Given the description of an element on the screen output the (x, y) to click on. 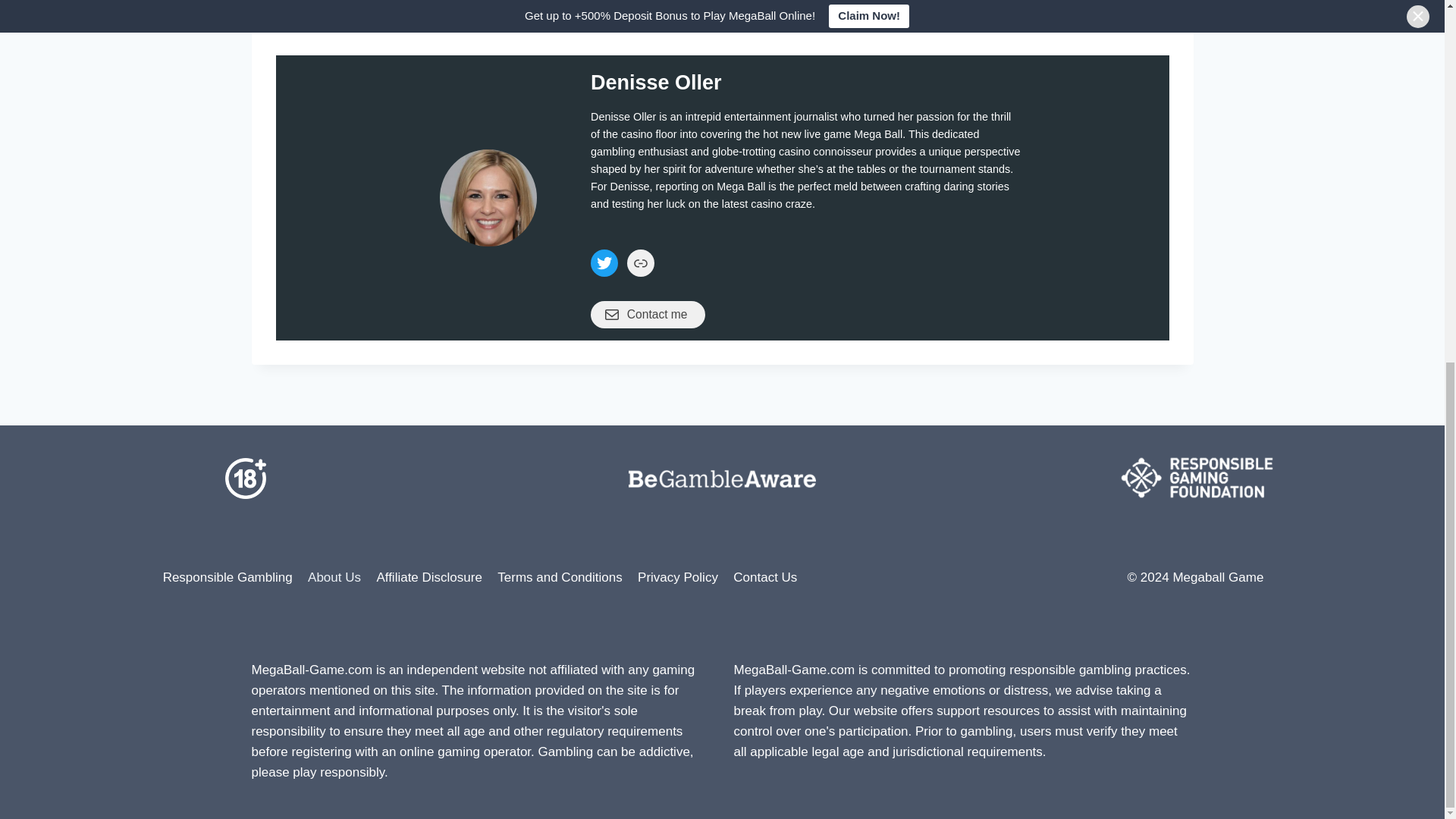
About Us (333, 577)
Contact Us (765, 577)
Responsible Gambling (226, 577)
Twitter (604, 262)
Link (640, 262)
Terms and Conditions (559, 577)
Contact me (647, 314)
Affiliate Disclosure (428, 577)
Privacy Policy (677, 577)
